Given the description of an element on the screen output the (x, y) to click on. 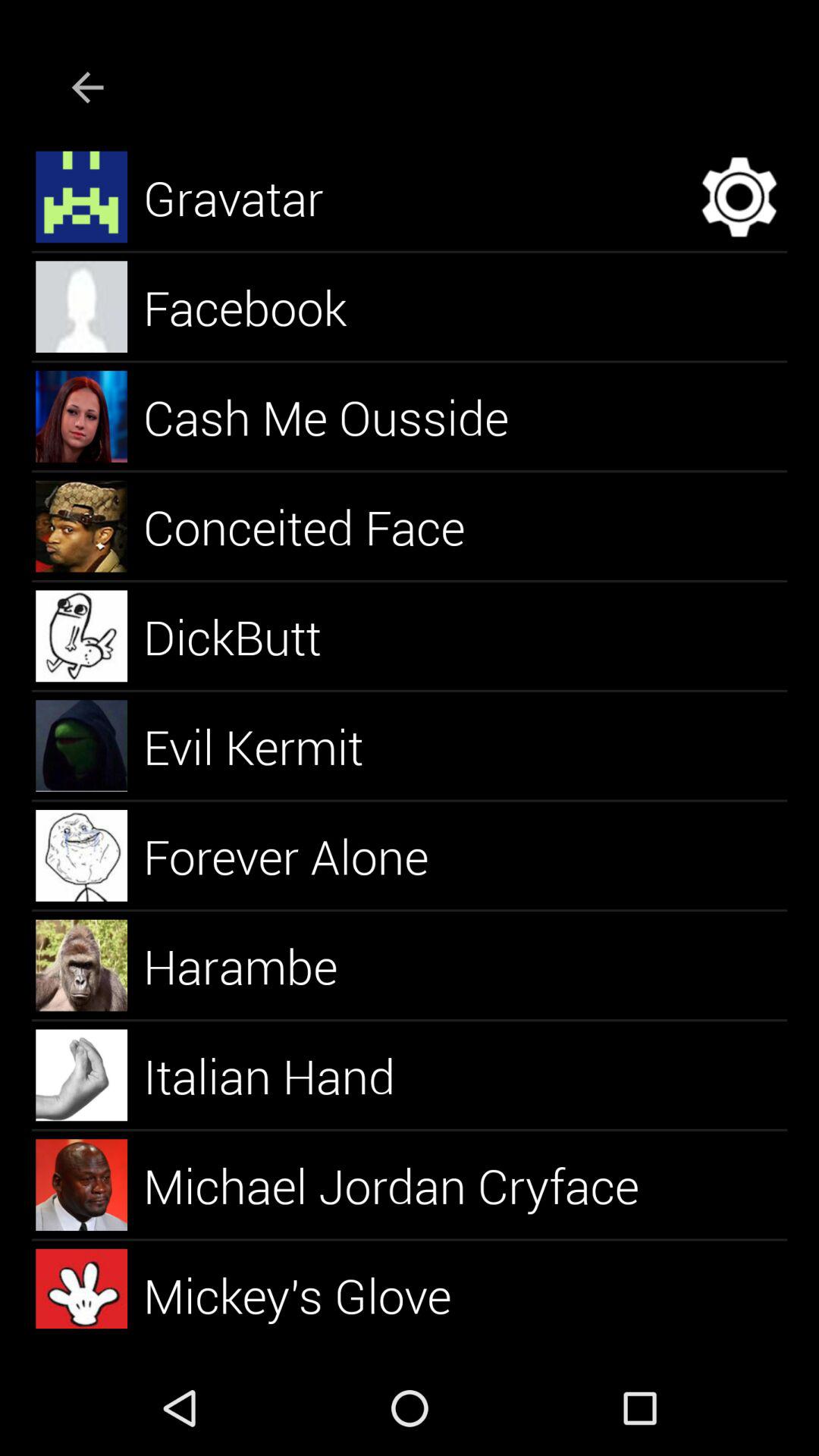
launch the mickey's glove (315, 1287)
